Given the description of an element on the screen output the (x, y) to click on. 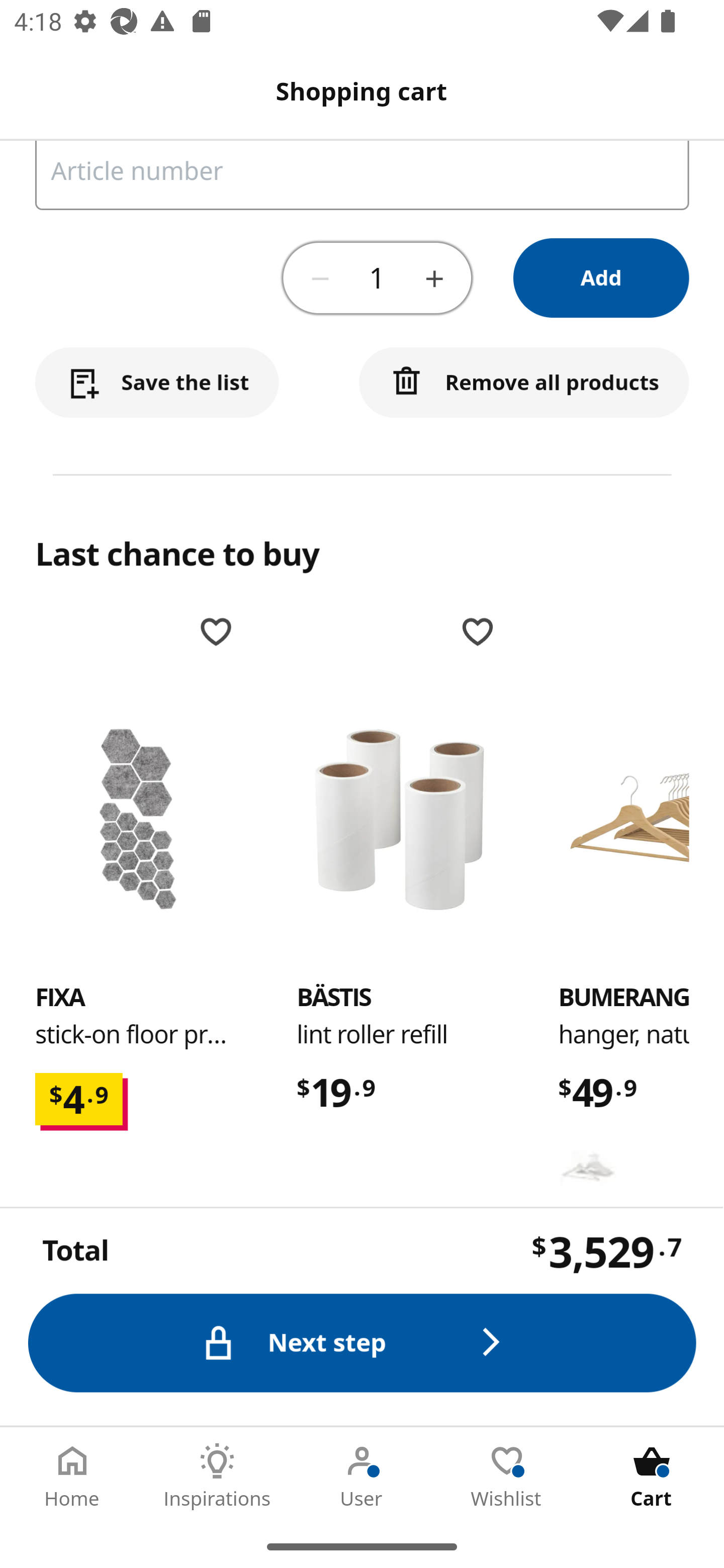
Add (602, 279)
1 (376, 279)
 (320, 278)
 (434, 278)
 Save the list (157, 384)
 Remove all products (525, 384)
FIXA (138, 819)
BÄSTIS (399, 819)
BUMERANG (640, 819)
FIXA (60, 998)
BÄSTIS (332, 998)
BUMERANG (624, 998)
BUMERANG (588, 1166)
 (225, 1318)
 (487, 1318)
Home
Tab 1 of 5 (72, 1476)
Inspirations
Tab 2 of 5 (216, 1476)
User
Tab 3 of 5 (361, 1476)
Wishlist
Tab 4 of 5 (506, 1476)
Cart
Tab 5 of 5 (651, 1476)
